Given the description of an element on the screen output the (x, y) to click on. 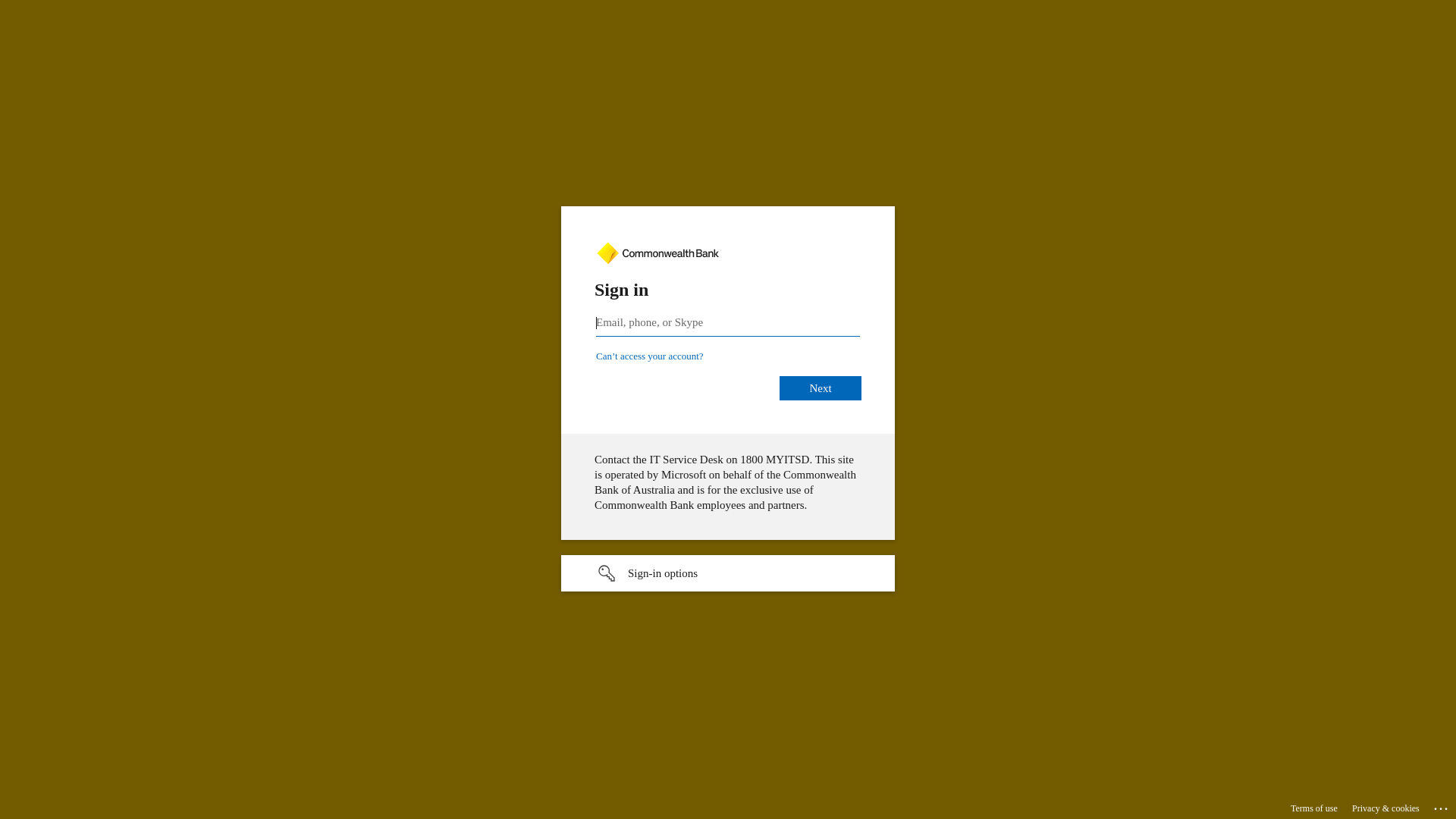
Next Element type: text (820, 388)
... Element type: text (1441, 805)
